Given the description of an element on the screen output the (x, y) to click on. 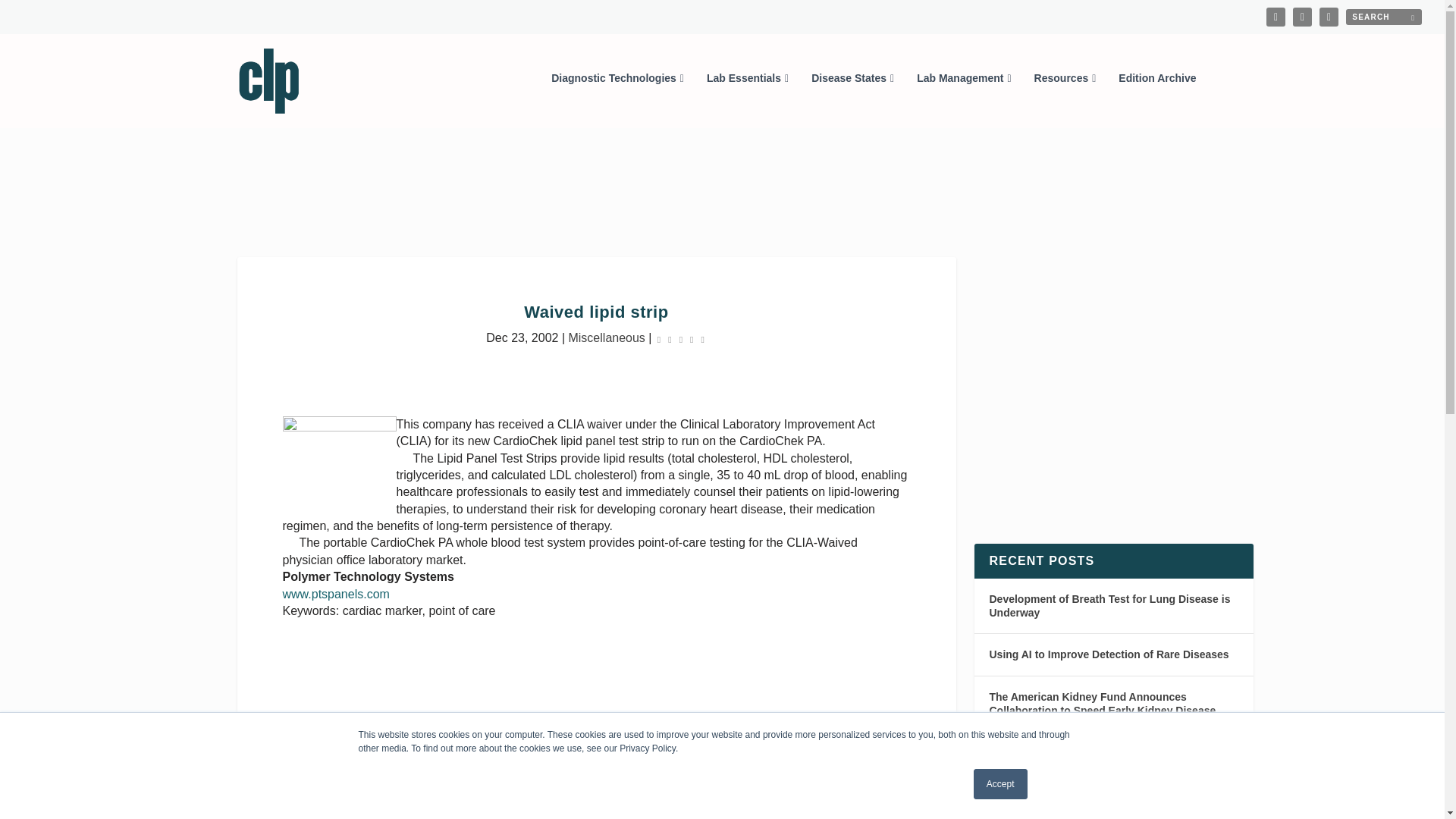
3rd party ad content (721, 192)
Share "Waived lipid strip" via Buffer (562, 742)
3rd party ad content (596, 794)
good (788, 743)
gorgeous (816, 743)
Share "Waived lipid strip" via Facebook (441, 742)
Diagnostic Technologies (617, 99)
Disease States (851, 99)
Search for: (1383, 17)
Lab Essentials (747, 99)
Lab Management (963, 99)
Share "Waived lipid strip" via Print (623, 742)
bad (706, 743)
poor (733, 743)
Share "Waived lipid strip" via Pinterest (501, 742)
